Given the description of an element on the screen output the (x, y) to click on. 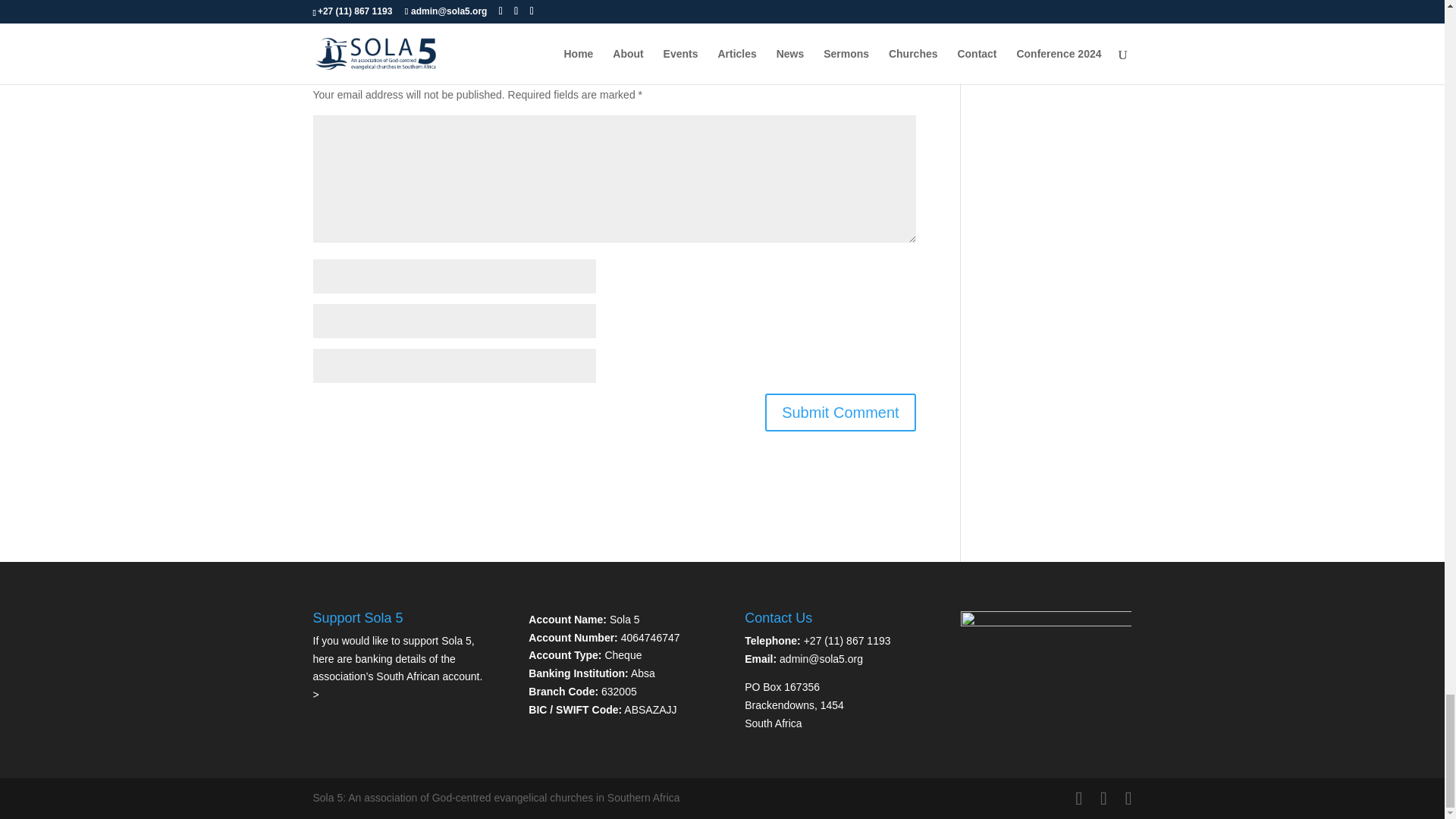
Submit Comment (840, 412)
